Given the description of an element on the screen output the (x, y) to click on. 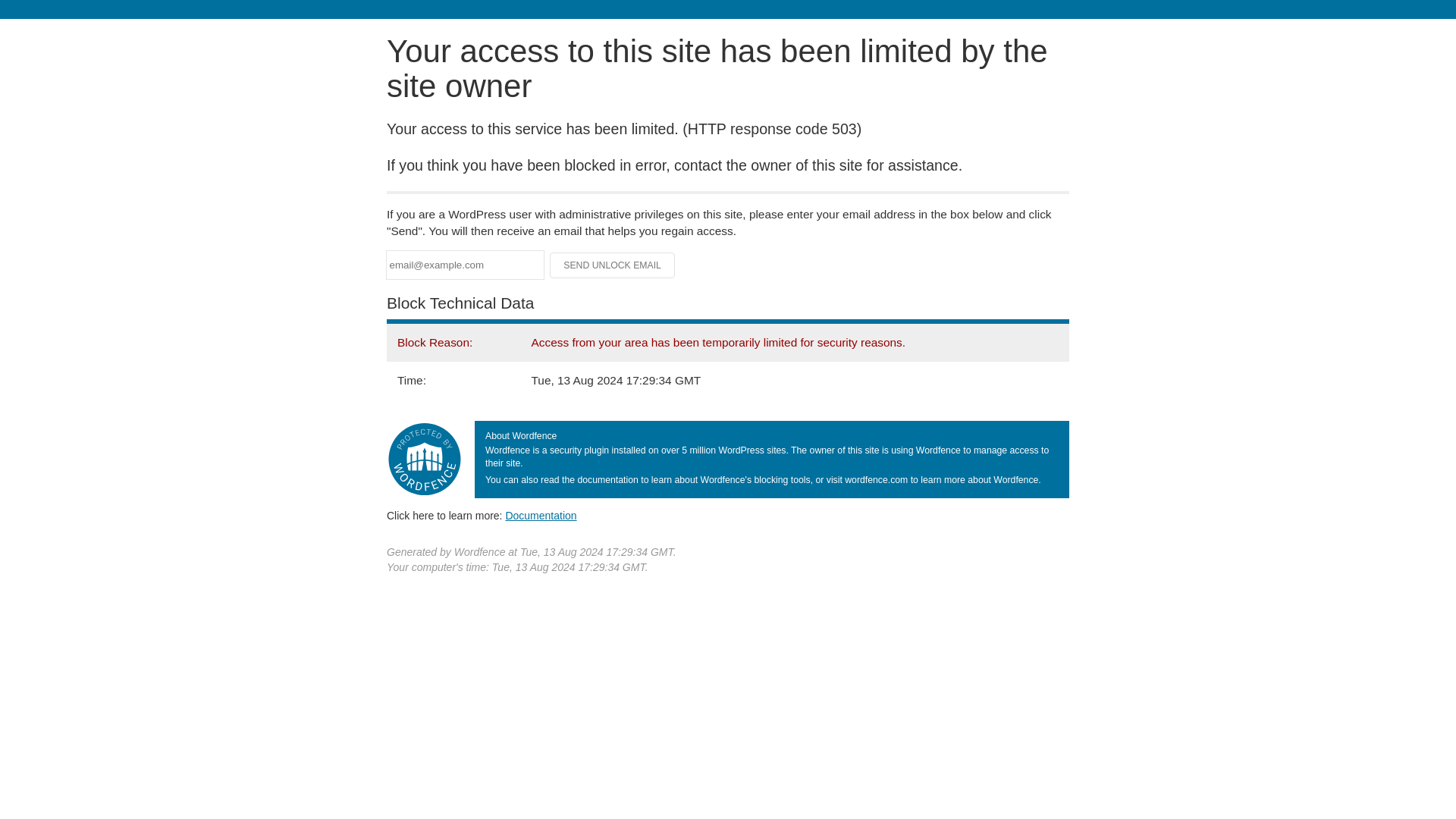
Documentation (540, 515)
Send Unlock Email (612, 265)
Send Unlock Email (612, 265)
